Given the description of an element on the screen output the (x, y) to click on. 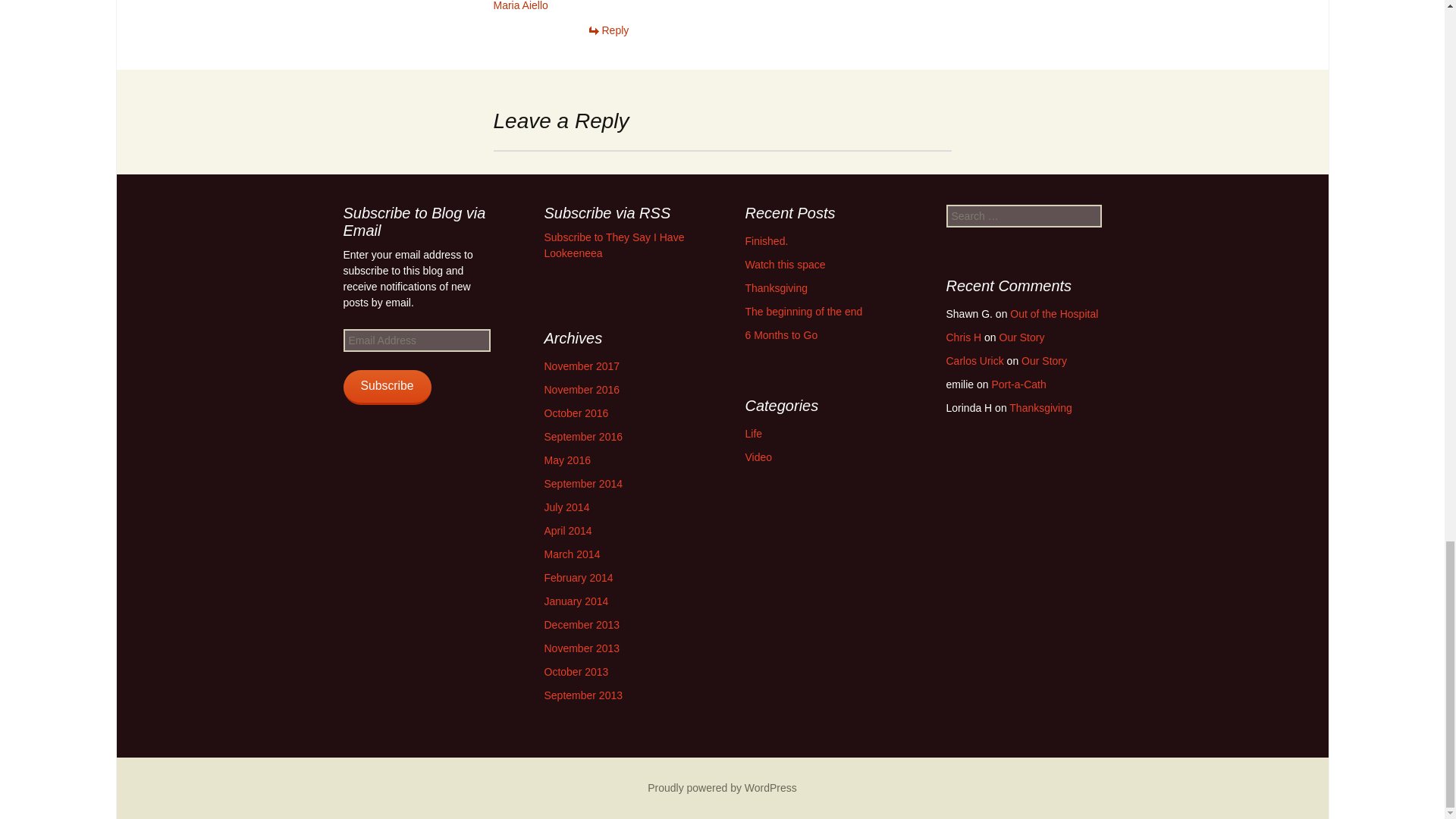
Subscribe (386, 387)
Thanksgiving (776, 287)
Finished. (765, 241)
Subscribe to They Say I Have Lookeeneea (614, 244)
Reply (607, 30)
6 Months to Go (780, 335)
The beginning of the end (802, 311)
Watch this space (784, 264)
